Given the description of an element on the screen output the (x, y) to click on. 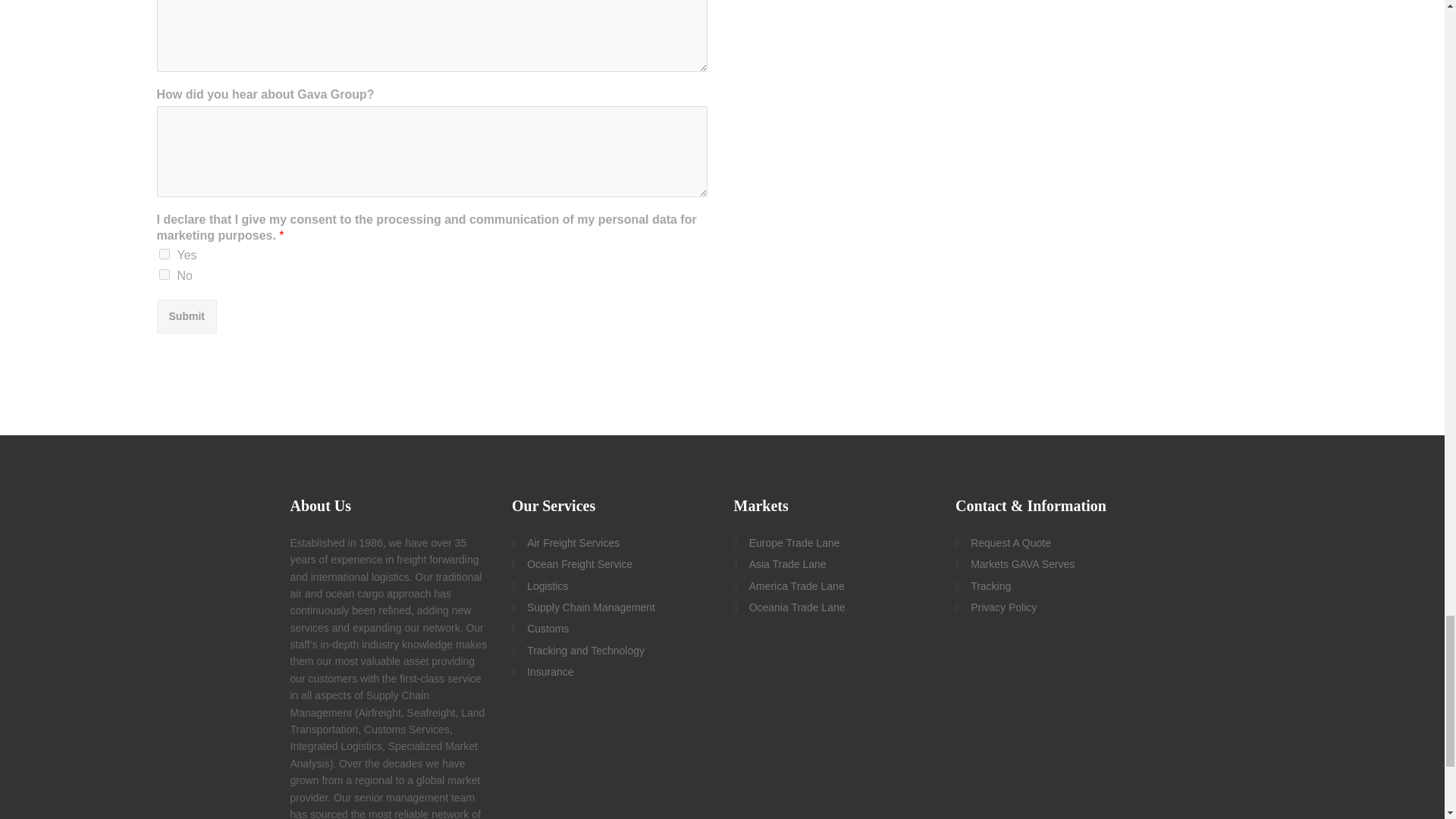
Air Freight Services (573, 542)
Submit (185, 315)
Ocean Freight Service (579, 564)
Logistics (547, 586)
